Given the description of an element on the screen output the (x, y) to click on. 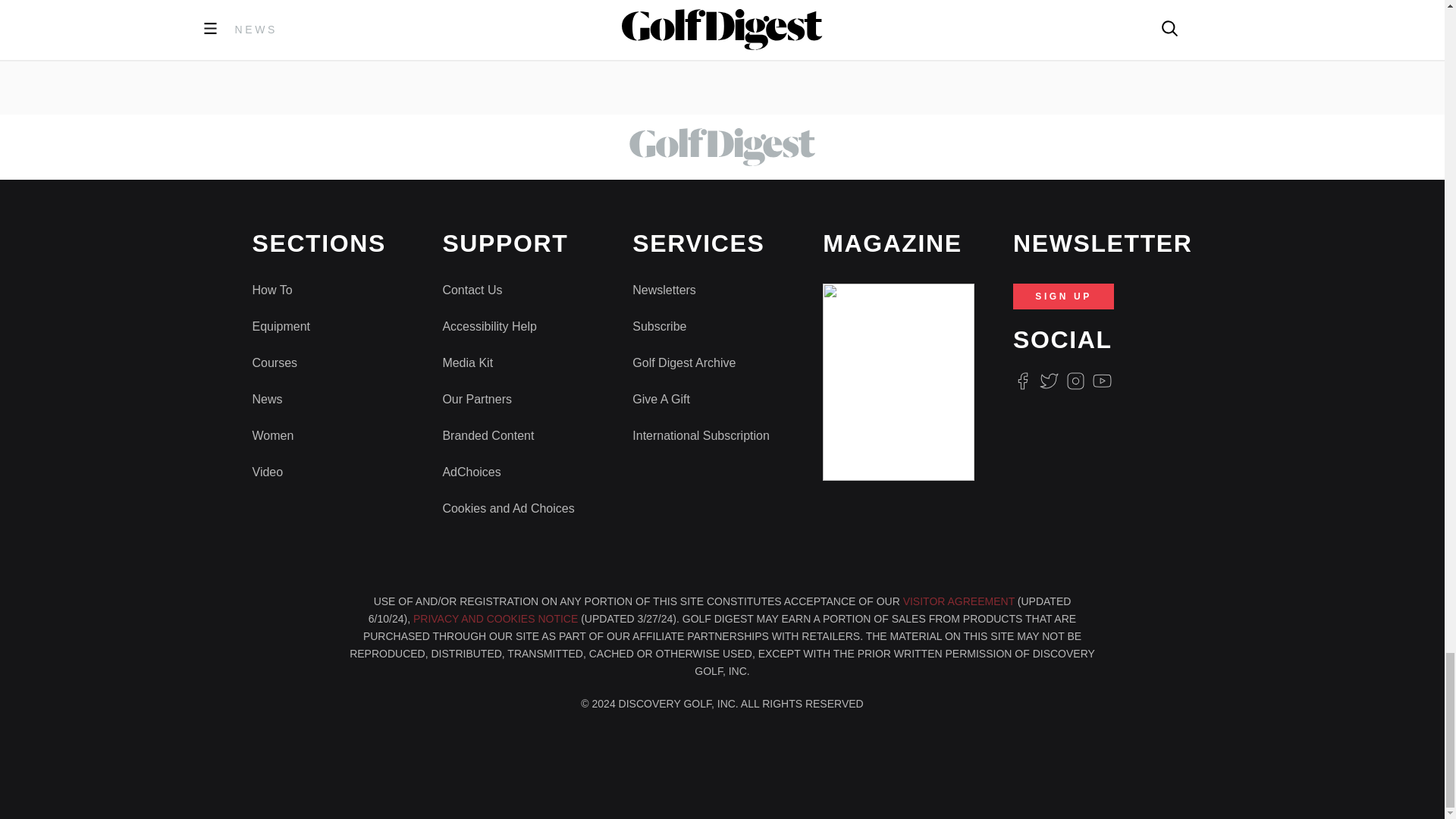
Twitter Logo (1048, 380)
Youtube Icon (1102, 380)
Instagram Logo (1074, 380)
Facebook Logo (1022, 380)
